Given the description of an element on the screen output the (x, y) to click on. 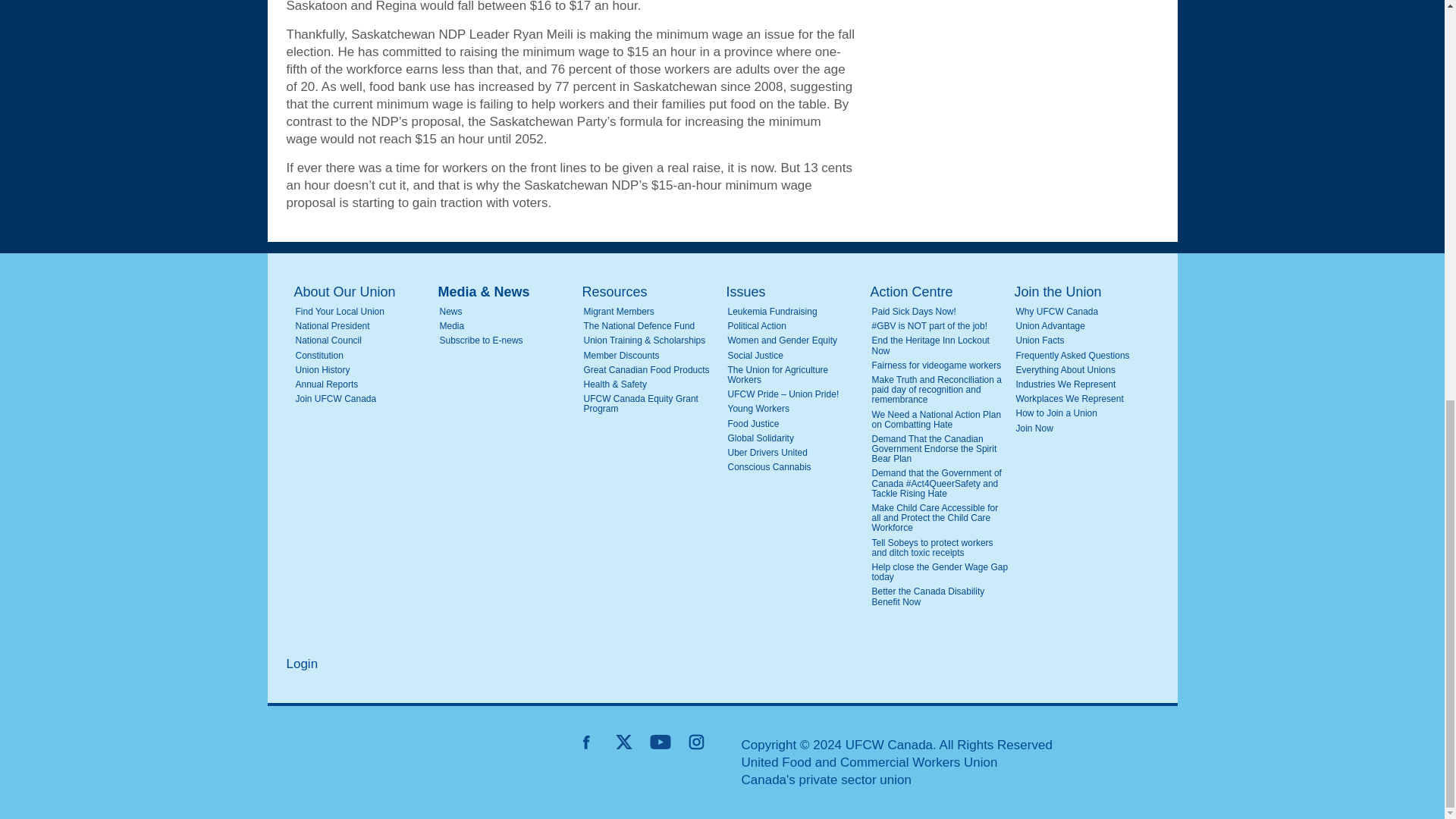
  Youtube2 (660, 742)
About Our Union (362, 292)
  Instagram (695, 742)
Constitution (363, 356)
Annual Reports (363, 384)
Join UFCW Canada (363, 398)
Union History (363, 370)
Find Your Local Union (363, 311)
National Council (363, 340)
National President (363, 326)
